Given the description of an element on the screen output the (x, y) to click on. 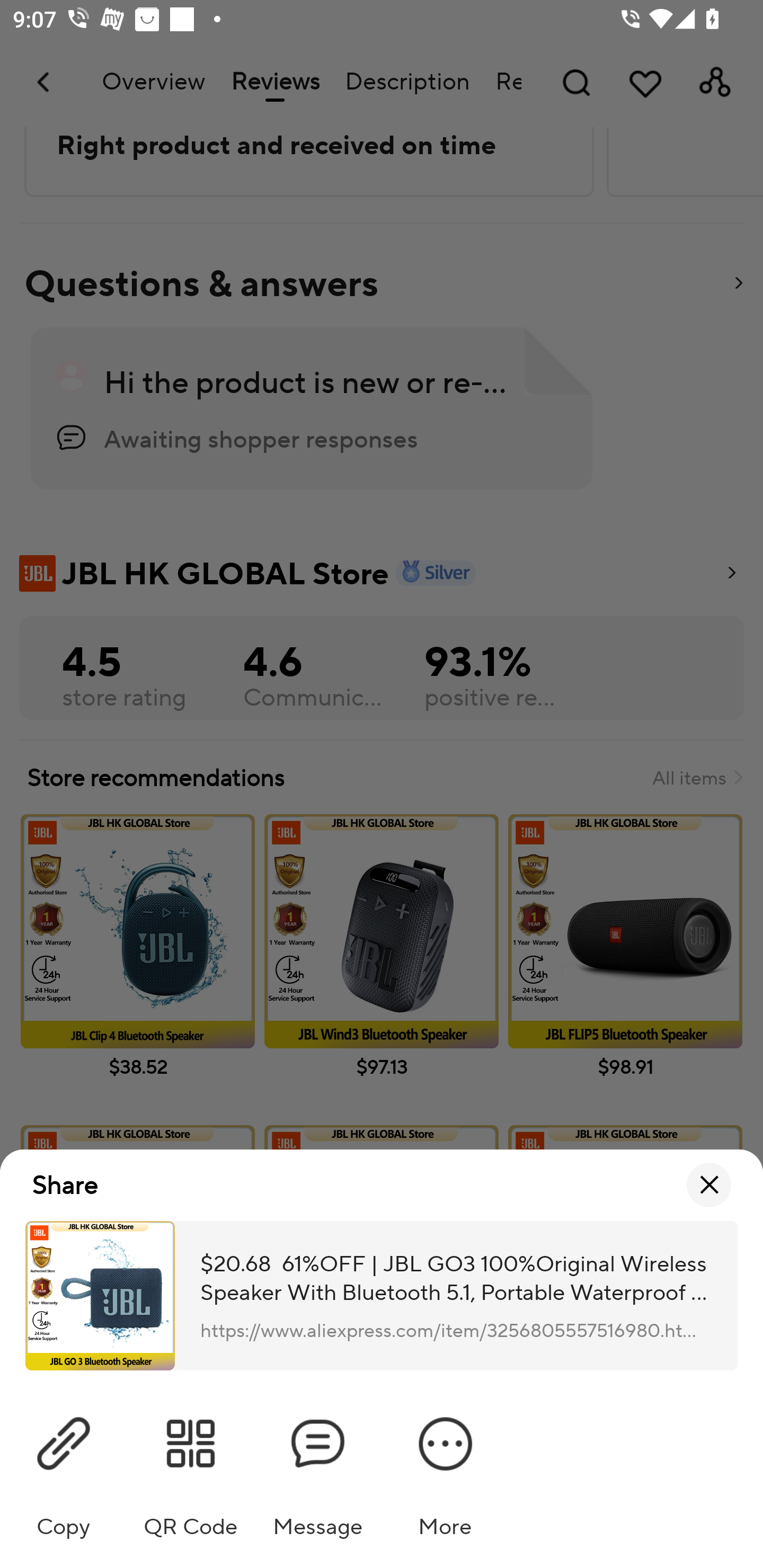
 (708, 1185)
Copy (63, 1469)
QR Code (190, 1469)
Message (317, 1469)
More (444, 1469)
